Given the description of an element on the screen output the (x, y) to click on. 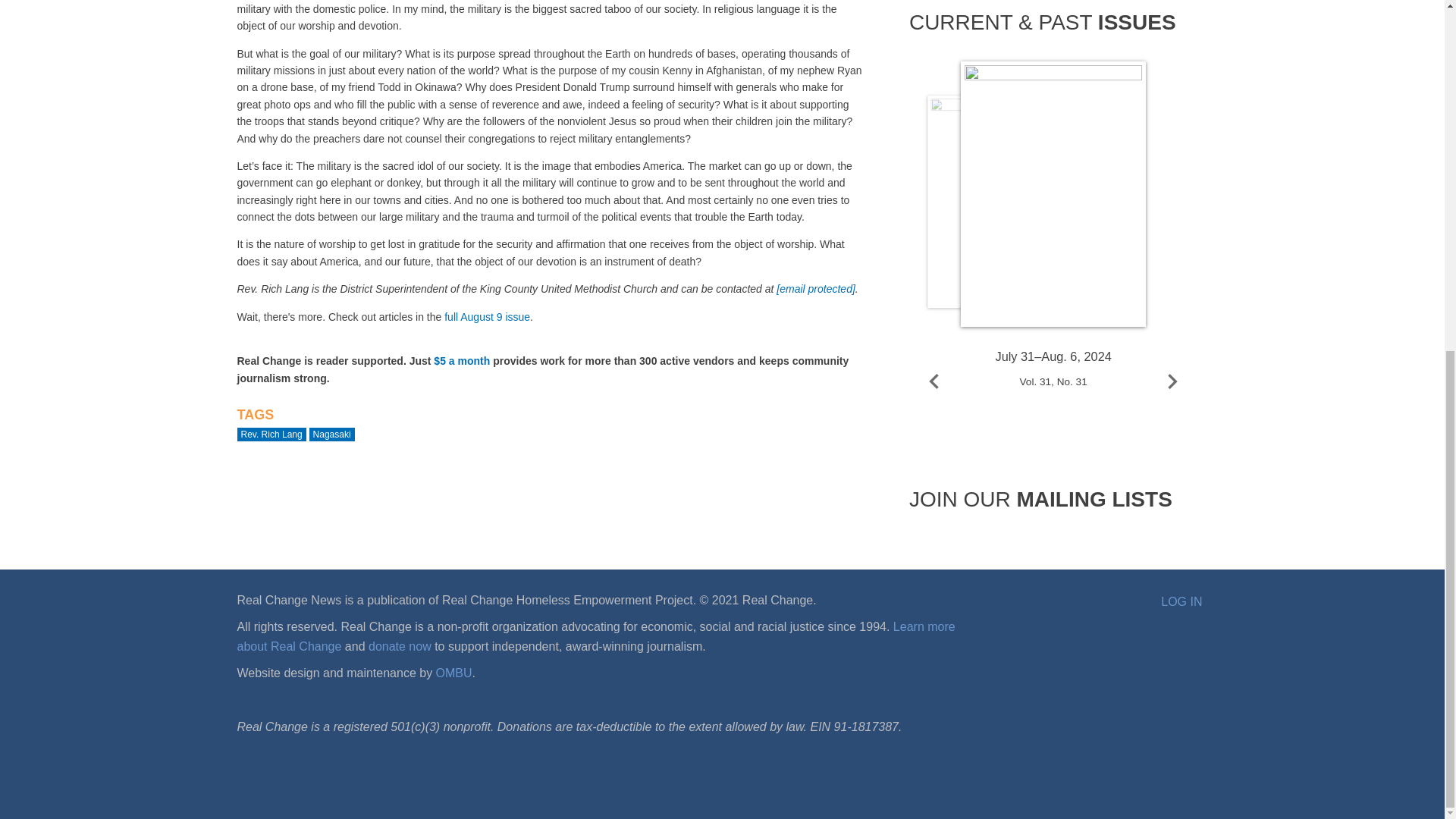
Previous issue (933, 381)
full August 9 issue (486, 316)
Rev. Rich Lang (270, 434)
Nagasaki (331, 434)
donate now (399, 645)
Learn more about Real Change (595, 635)
Next issue (1172, 381)
